Given the description of an element on the screen output the (x, y) to click on. 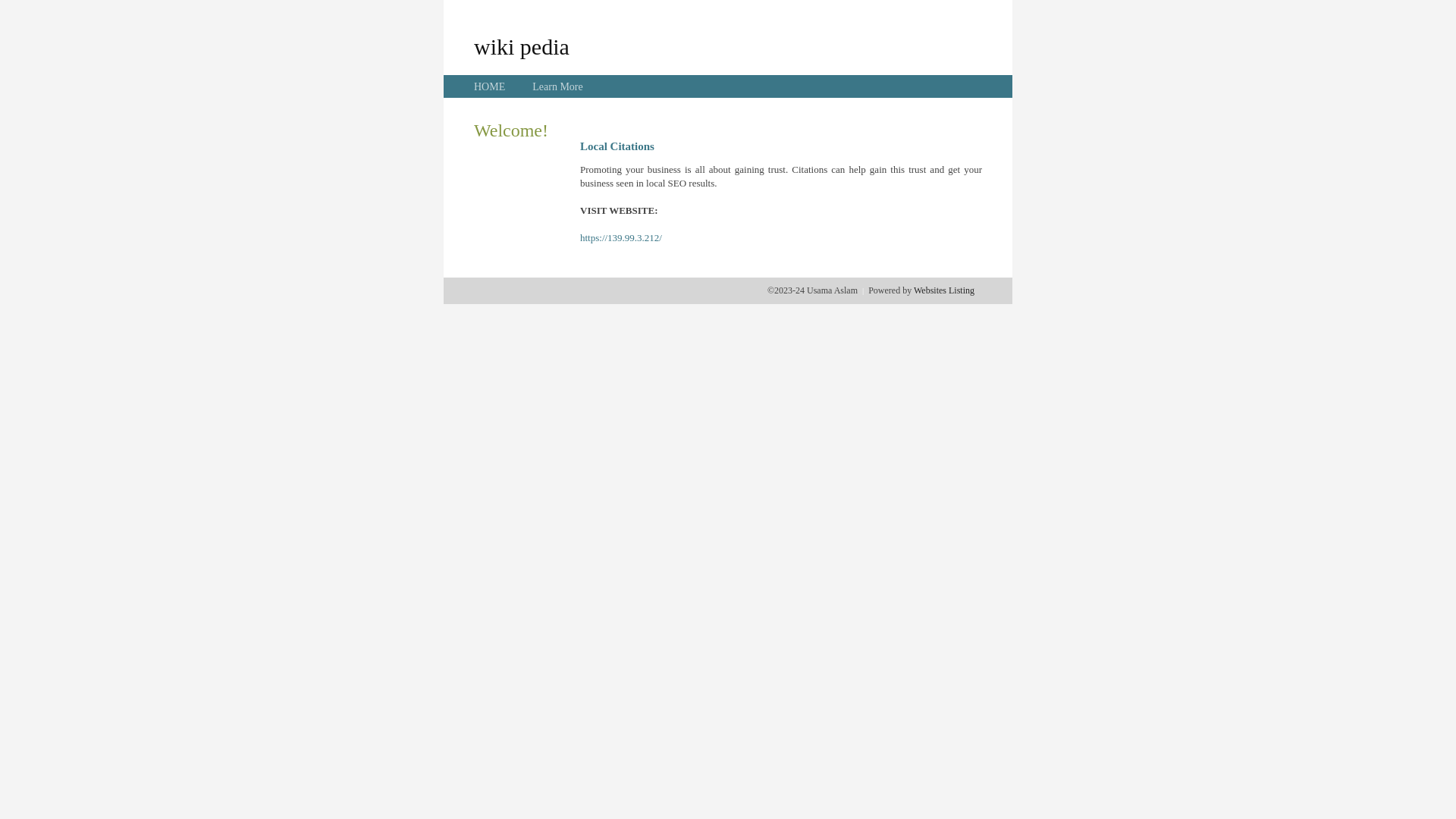
HOME Element type: text (489, 86)
Learn More Element type: text (557, 86)
wiki pedia Element type: text (521, 46)
Websites Listing Element type: text (943, 290)
https://139.99.3.212/ Element type: text (621, 237)
